Given the description of an element on the screen output the (x, y) to click on. 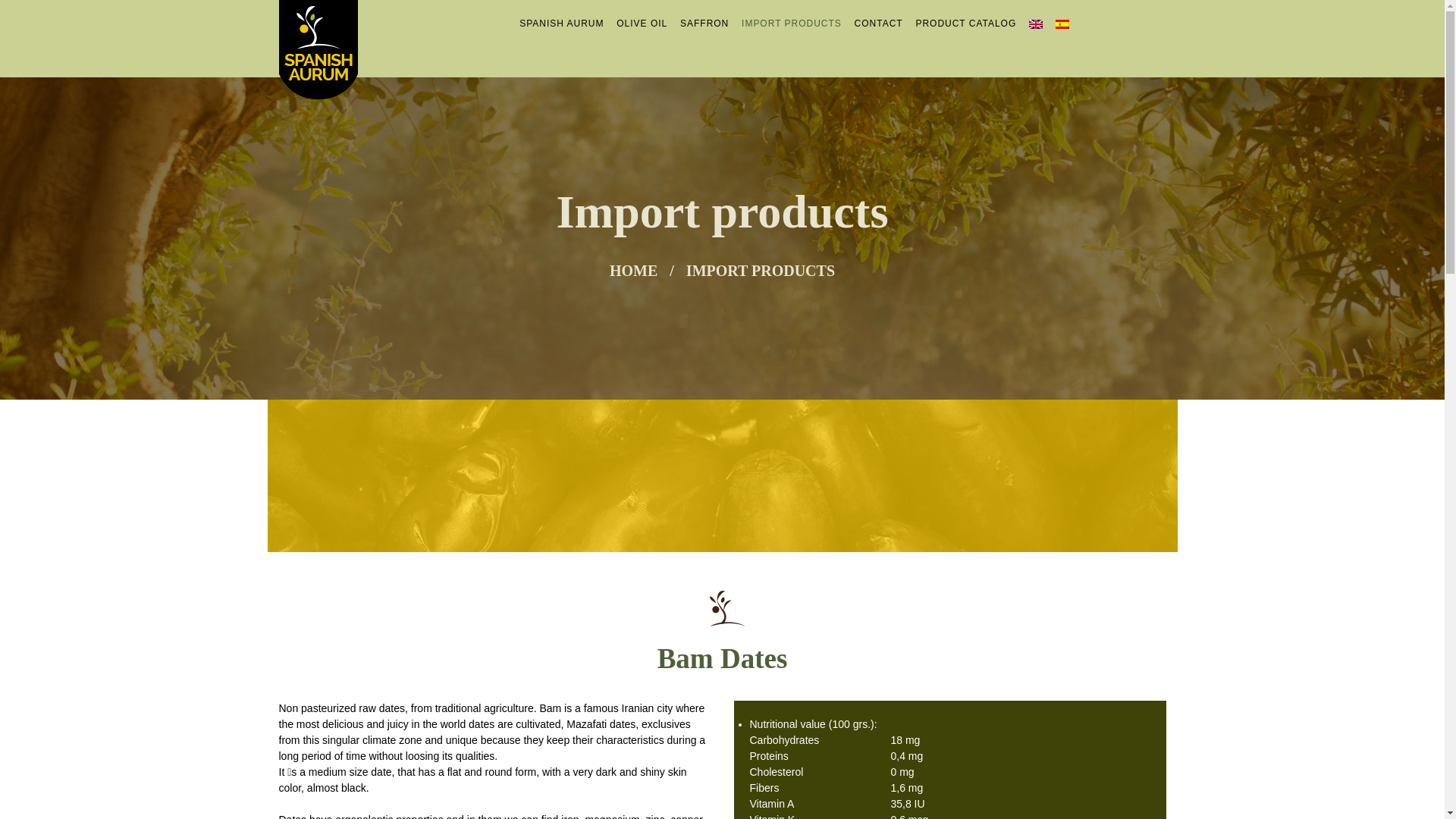
CONTACT (878, 23)
IMPORT PRODUCTS (791, 23)
HOME (634, 270)
PRODUCT CATALOG (965, 23)
SPANISH AURUM (561, 23)
OLIVE OIL (640, 23)
SAFFRON (704, 23)
